Given the description of an element on the screen output the (x, y) to click on. 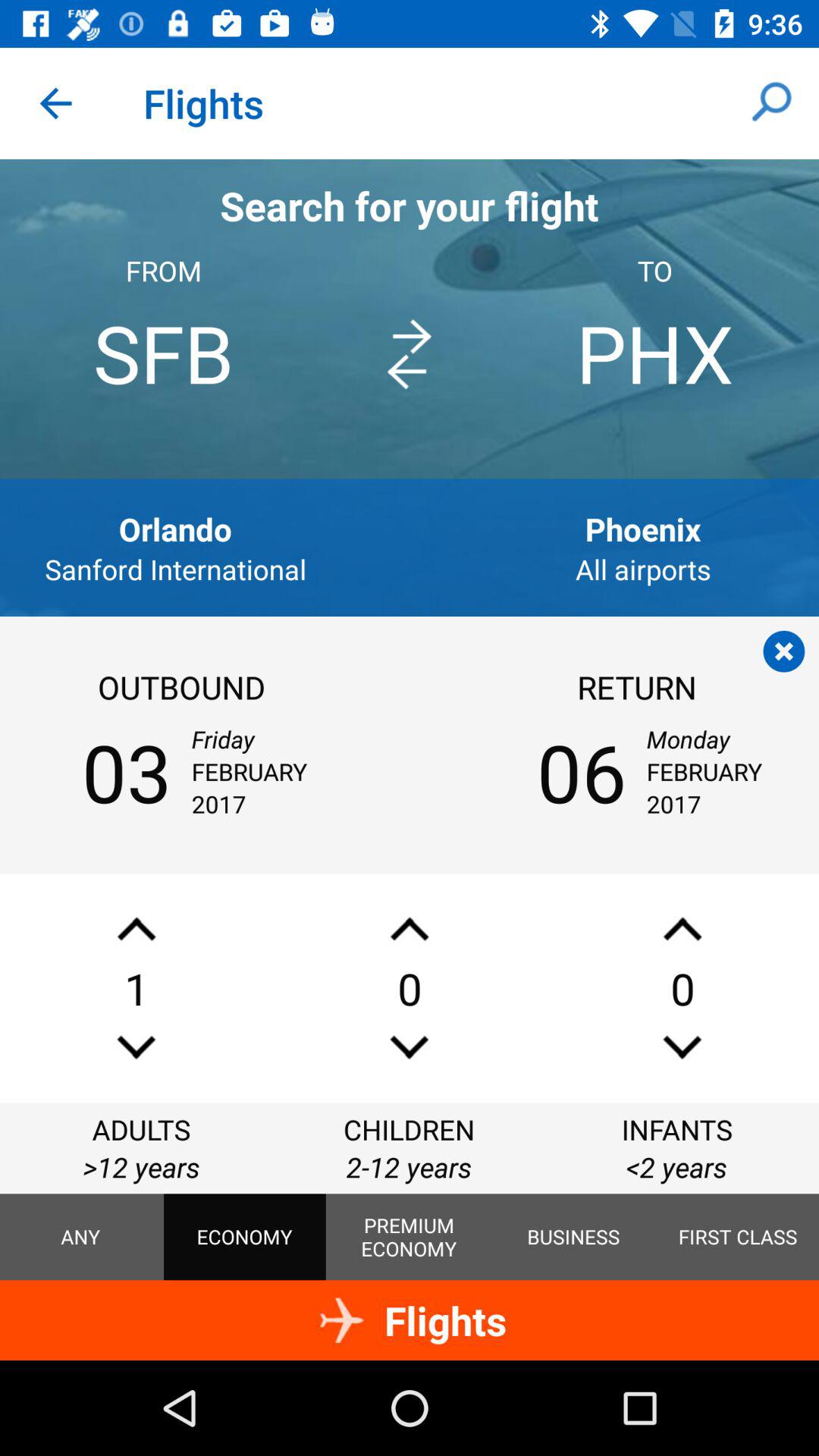
turn on icon to the left of first class (573, 1236)
